Given the description of an element on the screen output the (x, y) to click on. 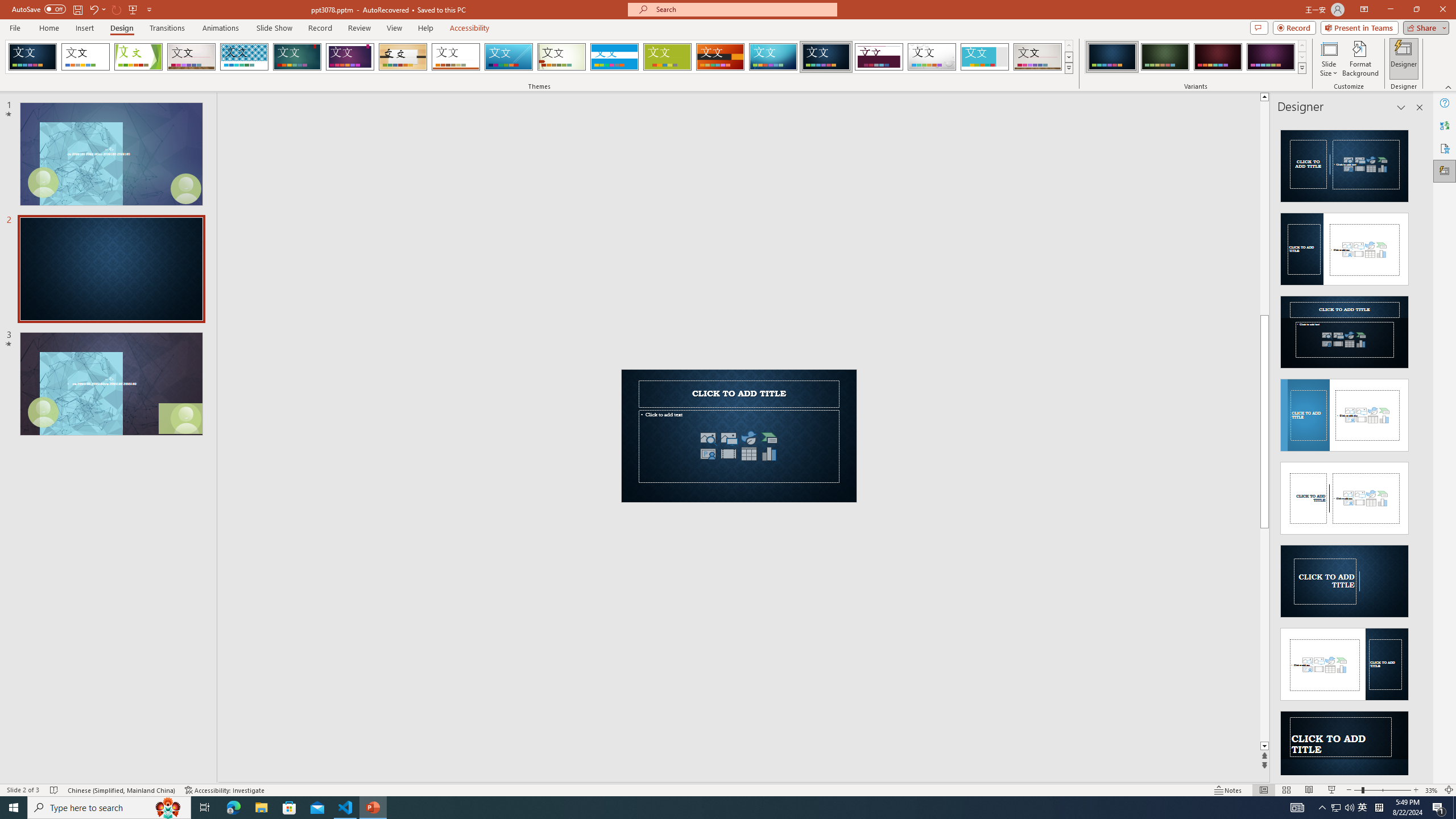
Berlin (720, 56)
Ion Boardroom (350, 56)
Damask Variant 1 (1112, 56)
Variants (1301, 67)
Dividend (879, 56)
Damask Variant 3 (1217, 56)
